Given the description of an element on the screen output the (x, y) to click on. 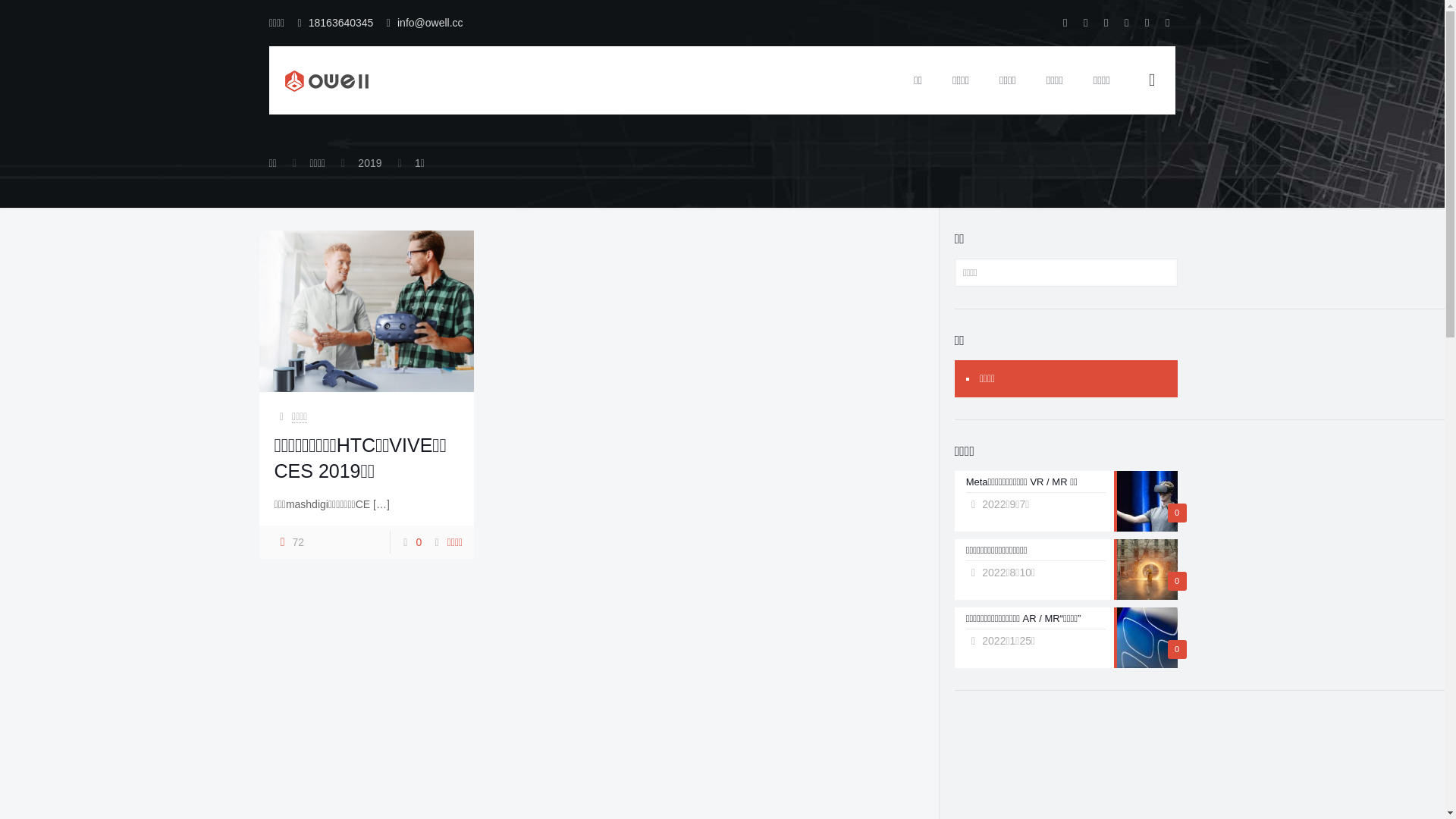
info@owell.cc Element type: text (430, 22)
72 Element type: text (289, 541)
2019 Element type: text (369, 162)
18163640345 Element type: text (340, 22)
0 Element type: text (418, 542)
